Given the description of an element on the screen output the (x, y) to click on. 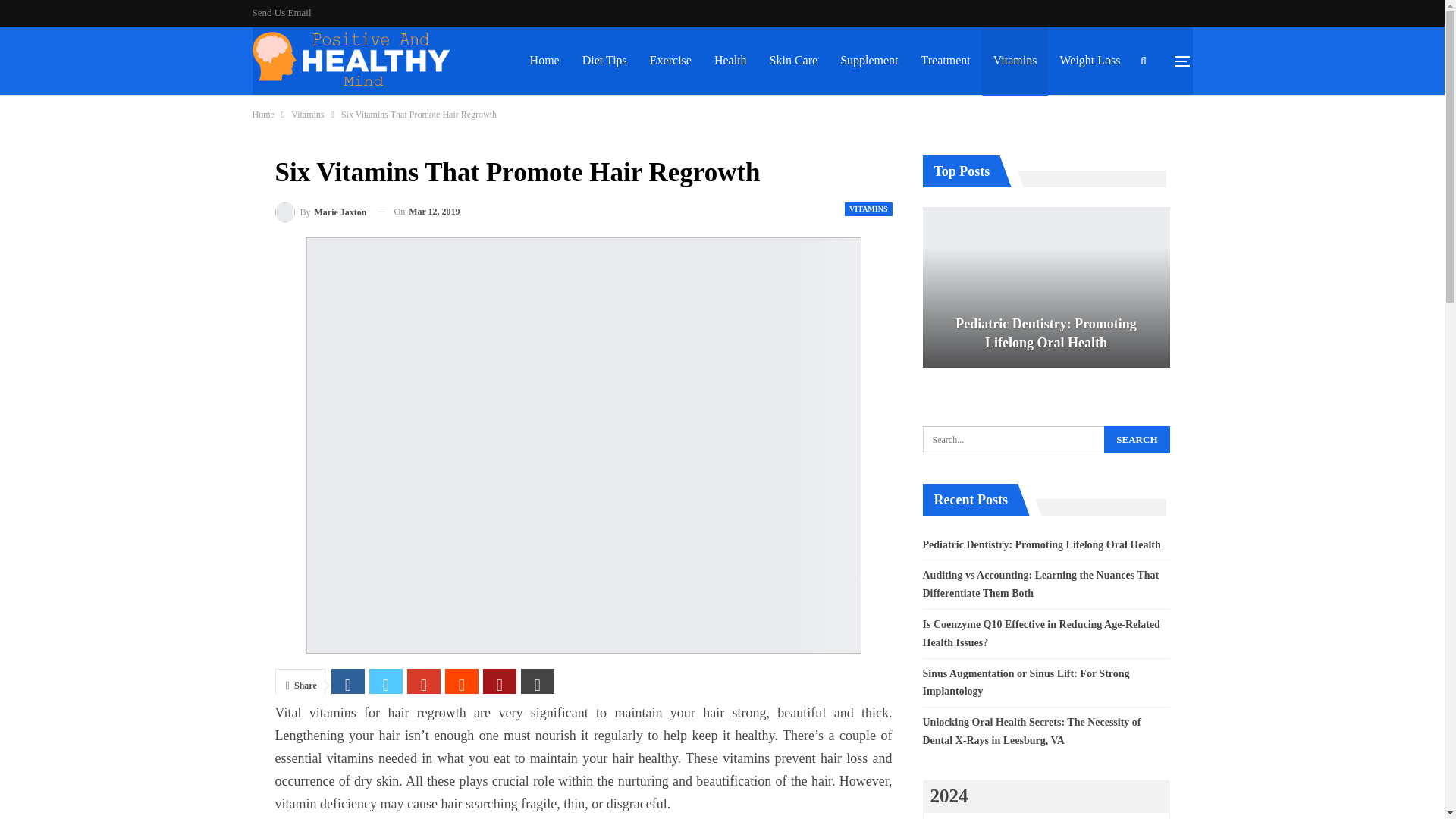
Exercise (671, 60)
Supplement (868, 60)
Treatment (945, 60)
Vitamins (307, 114)
Search (1136, 439)
Home (262, 114)
Browse Author Articles (320, 211)
Send Us Email (281, 12)
Search (1136, 439)
Diet Tips (604, 60)
By Marie Jaxton (320, 211)
Skin Care (793, 60)
Pediatric Dentistry: Promoting Lifelong Oral Health (1045, 287)
VITAMINS (867, 208)
Weight Loss (1089, 60)
